Given the description of an element on the screen output the (x, y) to click on. 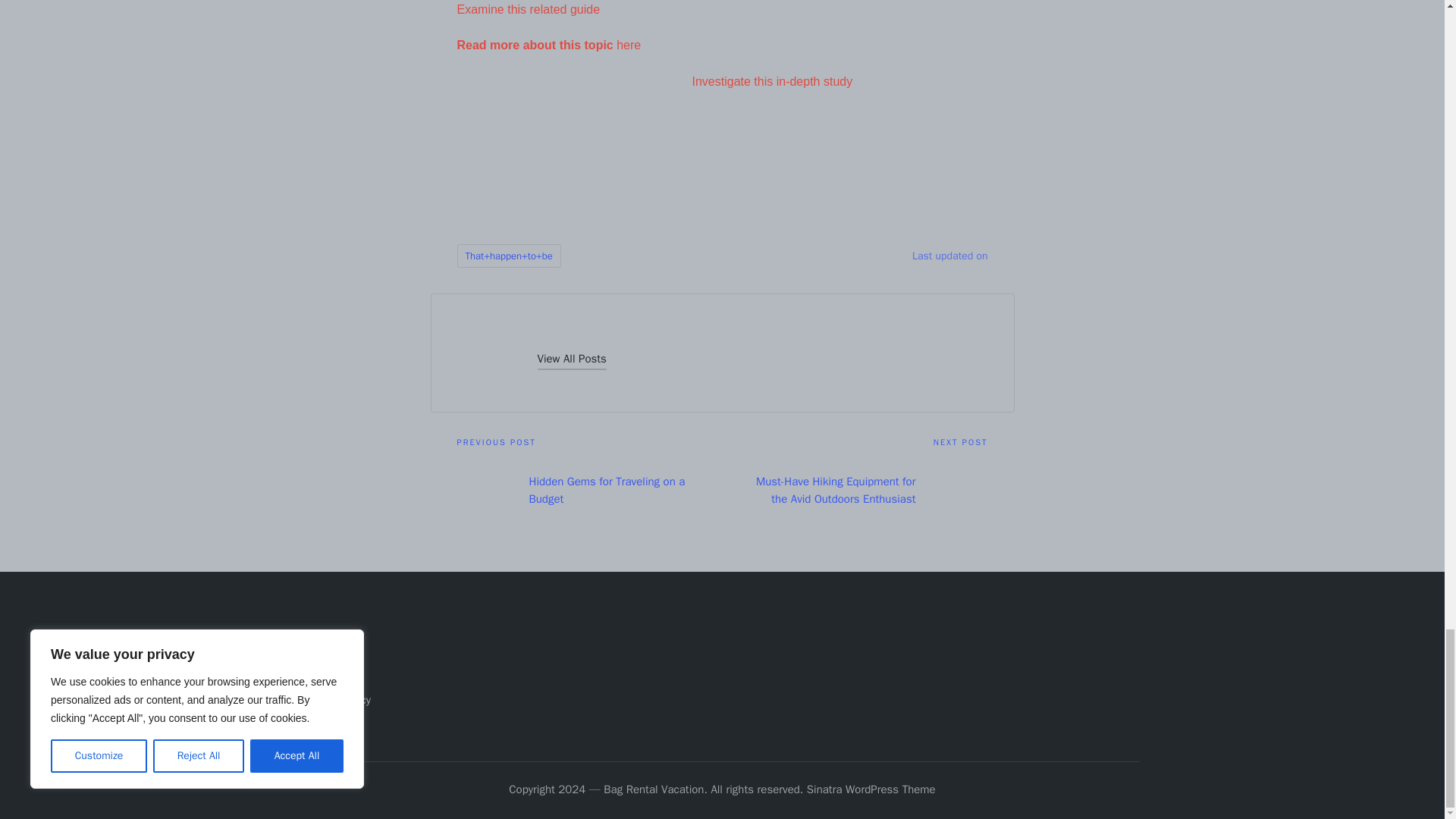
Hidden Gems for Traveling on a Budget (589, 489)
Examine this related guide (528, 9)
Investigate this in-depth study (771, 81)
Read more about this topic here (548, 44)
Privacy Policy (337, 699)
Must-Have Hiking Equipment for the Avid Outdoors Enthusiast (854, 489)
About (318, 650)
Contact (323, 674)
View All Posts (571, 358)
